Given the description of an element on the screen output the (x, y) to click on. 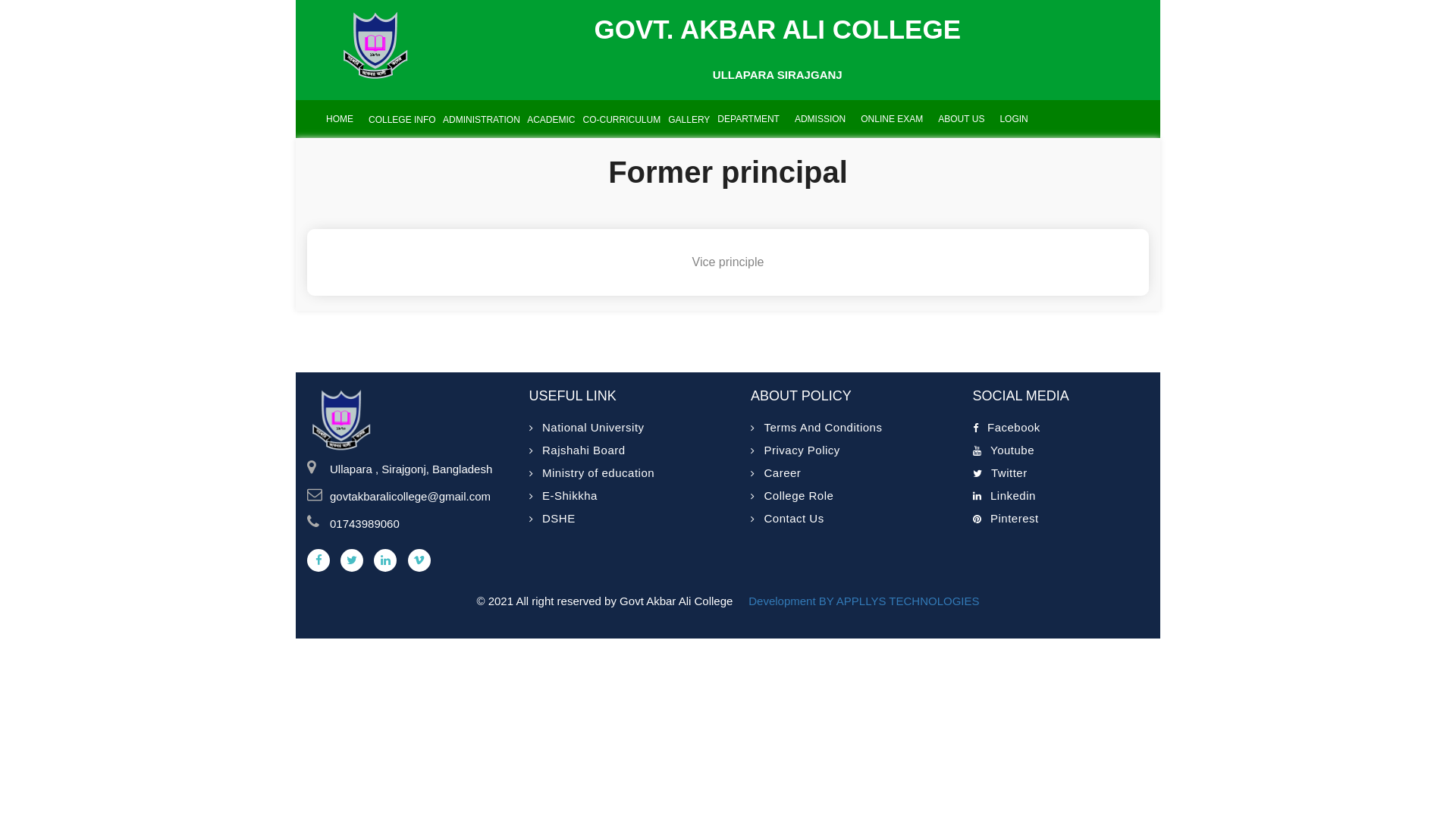
ADMISSION Element type: text (820, 119)
Pinterest Element type: text (1005, 517)
Contact Us Element type: text (787, 517)
DEPARTMENT Element type: text (748, 119)
Facebook Element type: text (1005, 426)
Youtube Element type: text (1003, 449)
Development BY APPLLYS TECHNOLOGIES Element type: text (862, 600)
Twitter Element type: text (999, 472)
Linkedin Element type: text (1003, 495)
   ACADEMIC Element type: text (547, 118)
LOGIN Element type: text (1013, 119)
HOME Element type: text (339, 119)
   ADMINISTRATION Element type: text (478, 118)
DSHE Element type: text (552, 517)
National University Element type: text (586, 426)
   COLLEGE INFO Element type: text (398, 118)
   GALLERY Element type: text (684, 118)
Career Element type: text (775, 472)
Ministry of education Element type: text (592, 472)
College Role Element type: text (791, 495)
   CO-CURRICULUM Element type: text (618, 118)
Rajshahi Board Element type: text (577, 449)
Privacy Policy Element type: text (795, 449)
ABOUT US Element type: text (960, 119)
E-Shikkha Element type: text (563, 495)
govtakbaralicollege@gmail.com Element type: text (417, 496)
ONLINE EXAM Element type: text (891, 119)
Terms And Conditions Element type: text (815, 426)
